Given the description of an element on the screen output the (x, y) to click on. 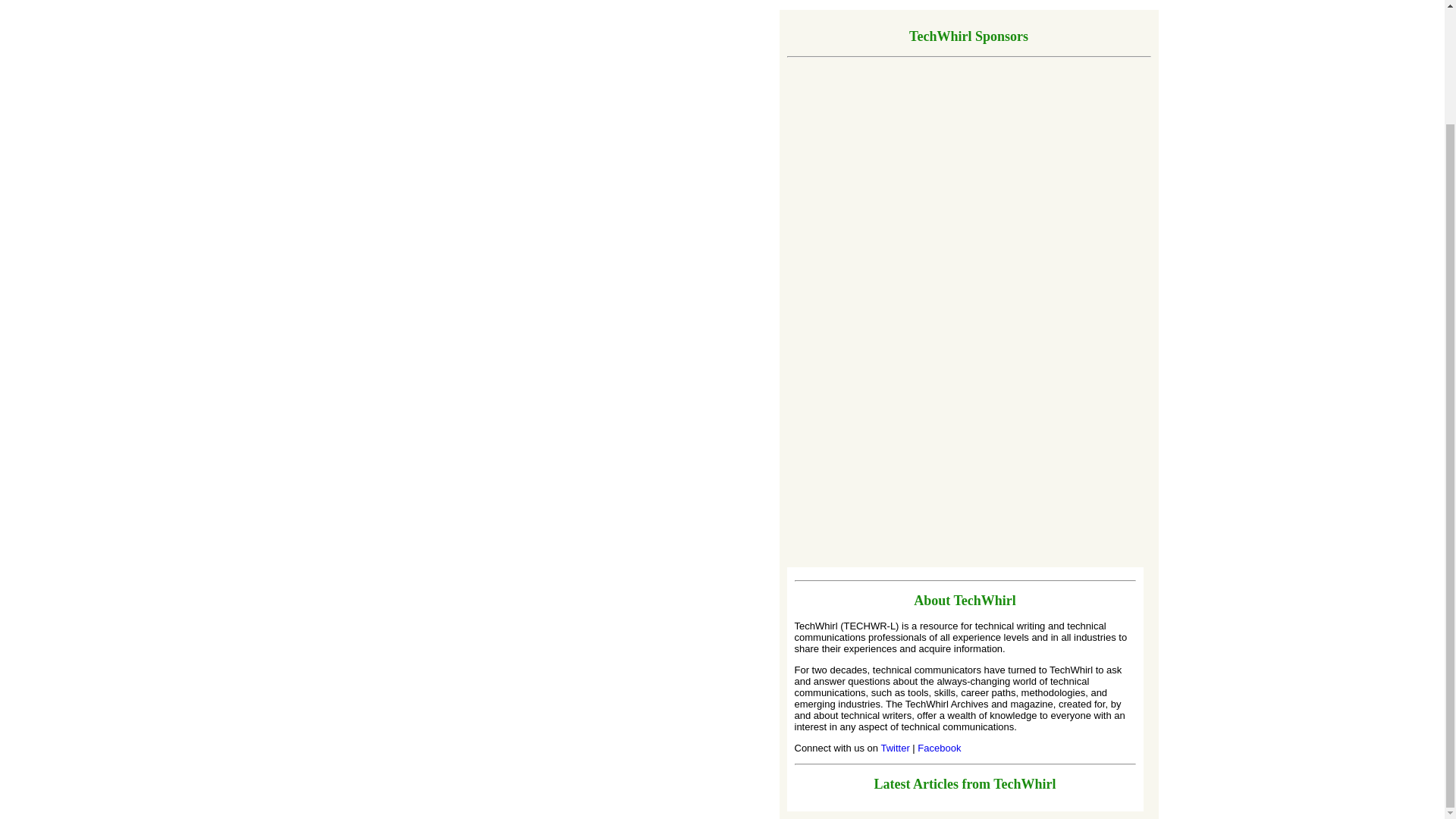
Twitter (896, 747)
3rd party ad content (1054, 275)
3rd party ad content (839, 275)
Facebook (938, 747)
